Given the description of an element on the screen output the (x, y) to click on. 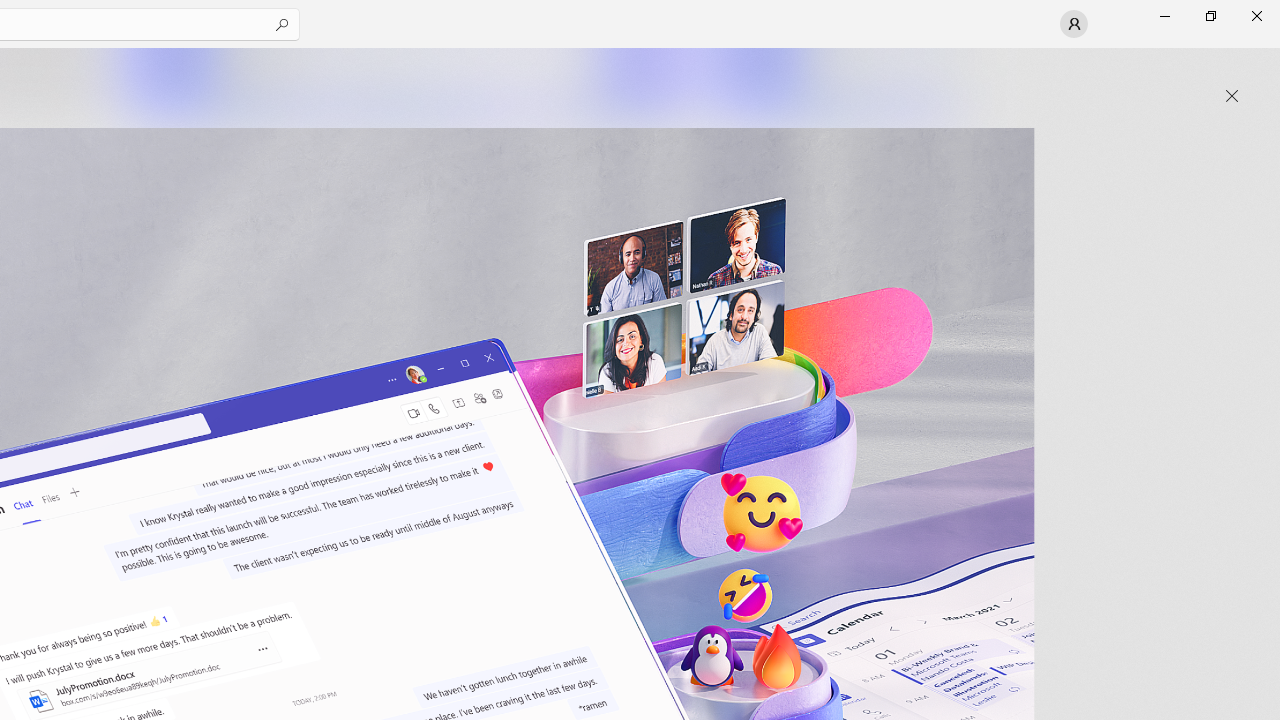
Screenshot 3 (833, 81)
Minimize Microsoft Store (1164, 15)
Show all ratings and reviews (924, 495)
User profile (1073, 24)
Close Microsoft Store (1256, 15)
Screenshot 2 (406, 81)
Restore Microsoft Store (1210, 15)
close popup window (1232, 95)
